Given the description of an element on the screen output the (x, y) to click on. 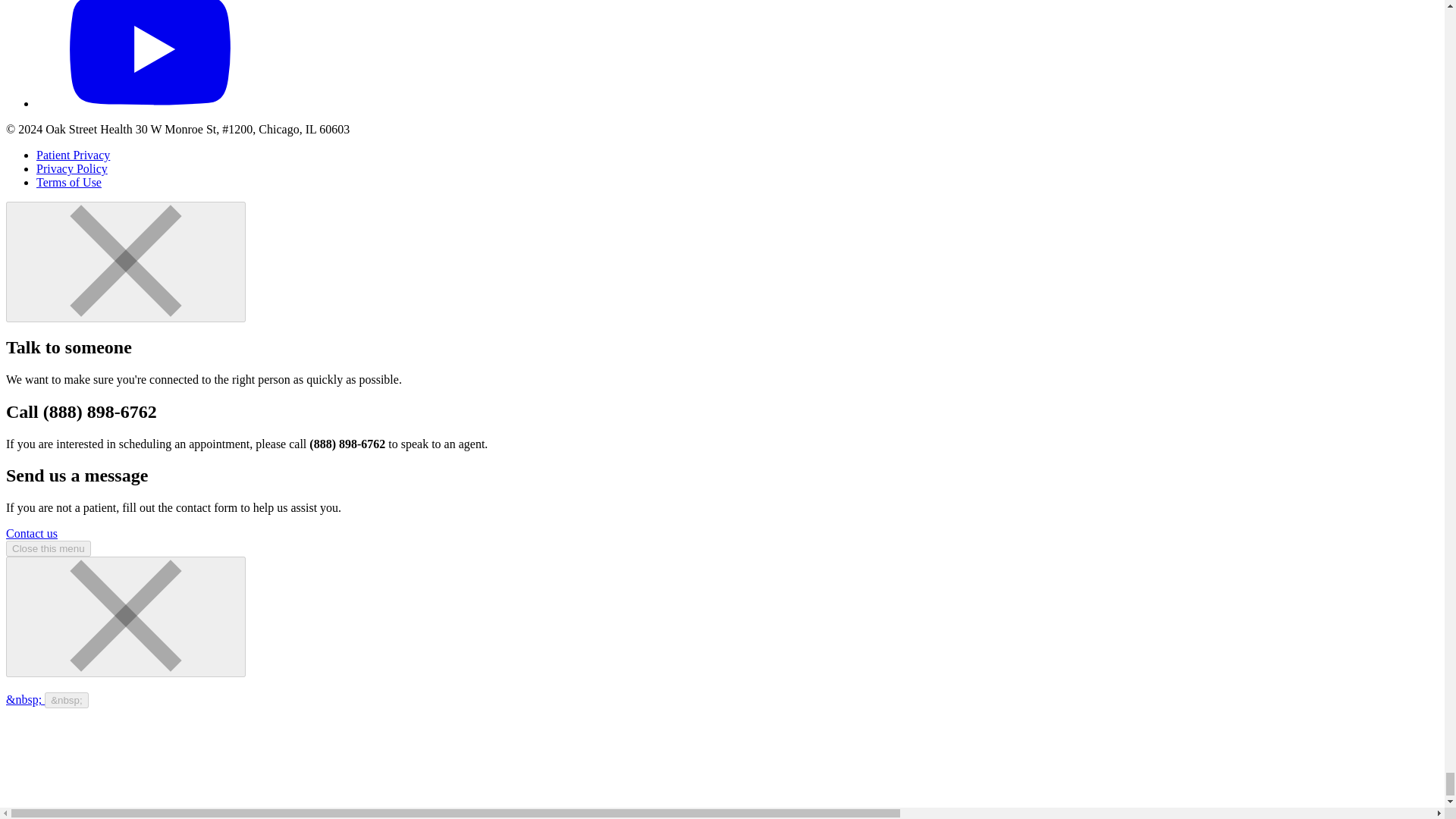
YouTube (149, 103)
